Given the description of an element on the screen output the (x, y) to click on. 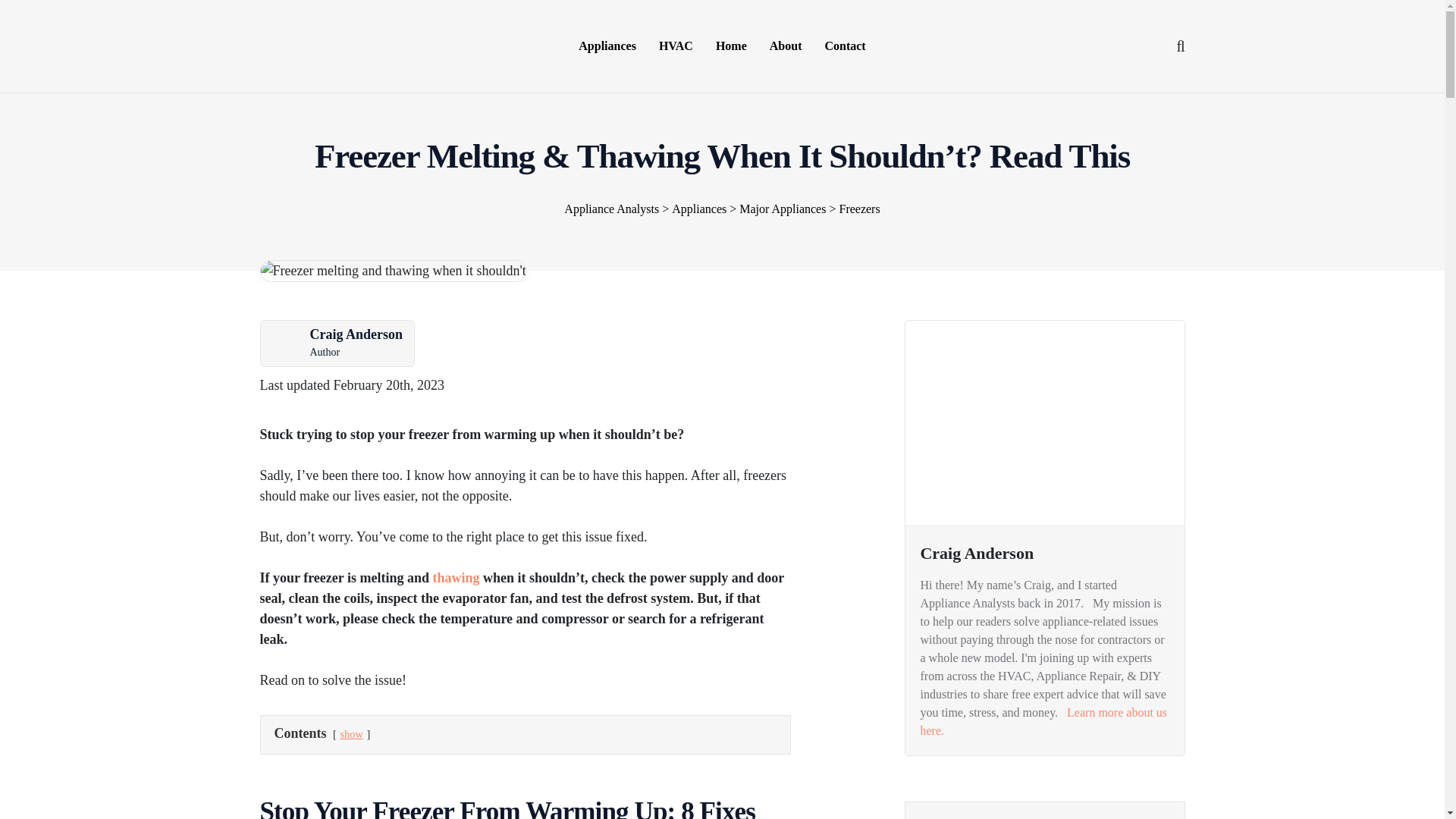
Appliances (607, 45)
Appliance Analysts (315, 44)
HVAC (675, 45)
